Given the description of an element on the screen output the (x, y) to click on. 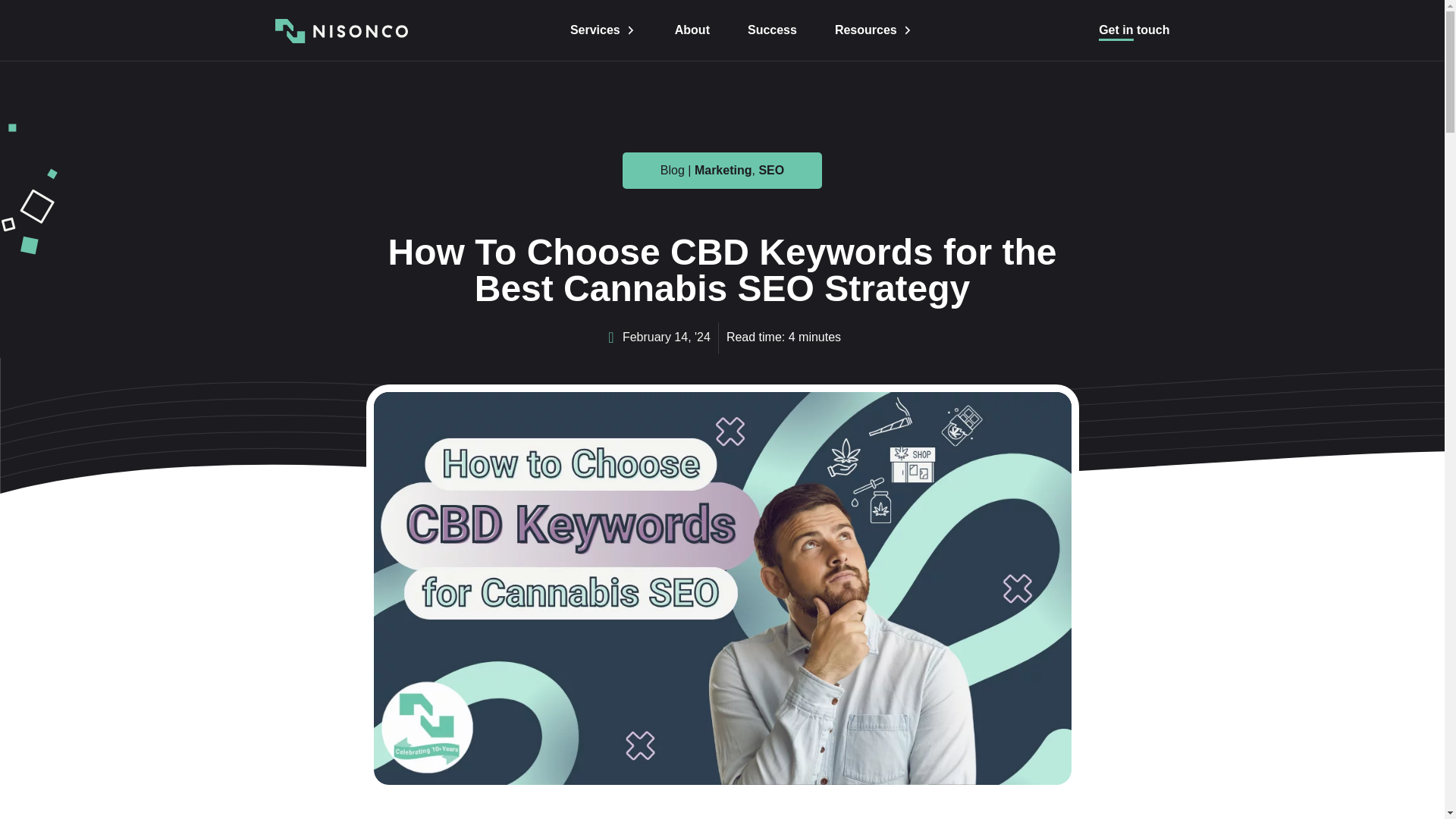
Success (772, 30)
Services (603, 30)
Get in touch (1133, 30)
SEO (771, 169)
About (691, 30)
Resources (874, 30)
Marketing (723, 169)
